Given the description of an element on the screen output the (x, y) to click on. 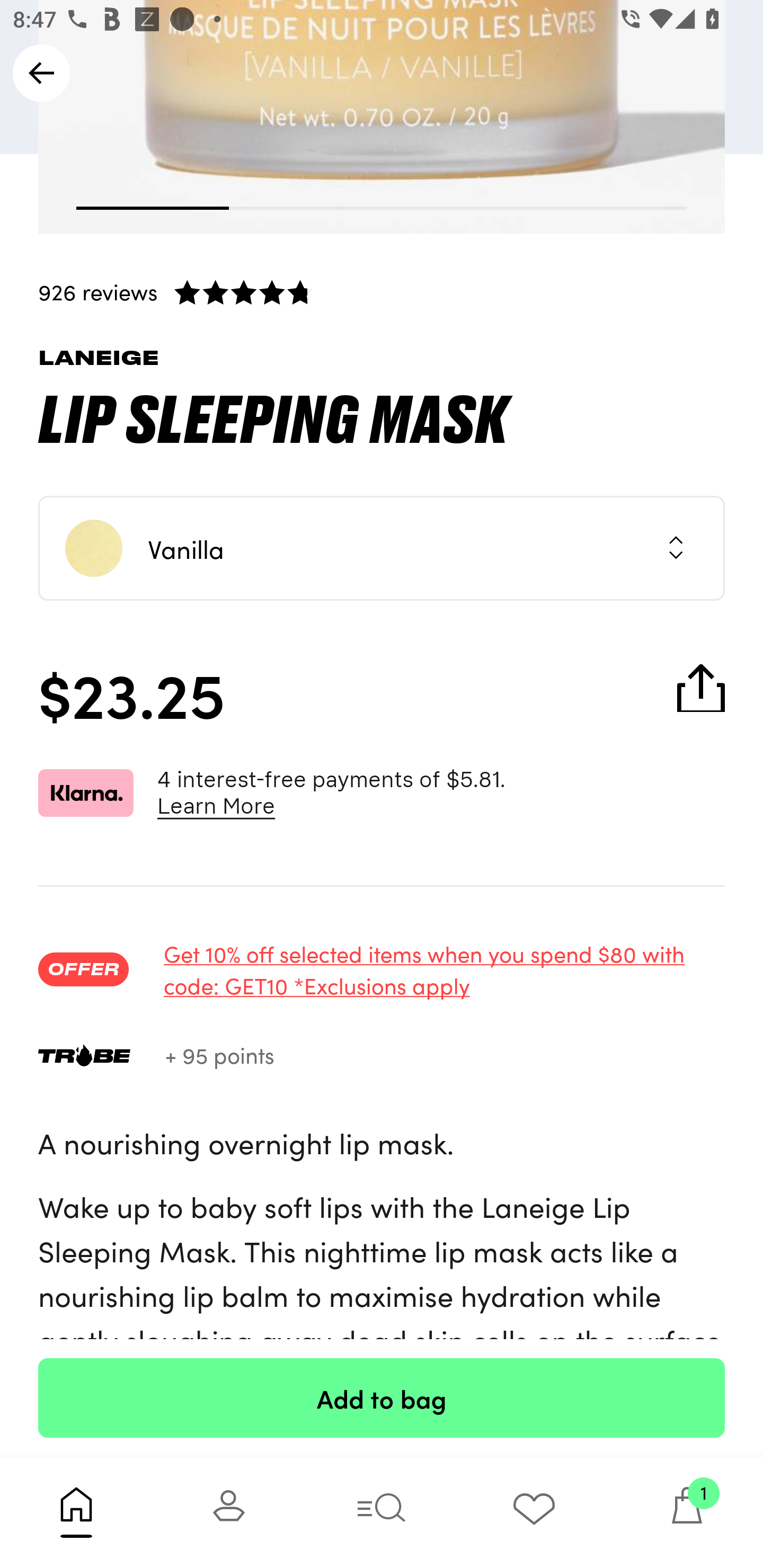
926 reviews (381, 291)
Vanilla  (381, 547)
Add to bag (381, 1397)
1 (686, 1512)
